Given the description of an element on the screen output the (x, y) to click on. 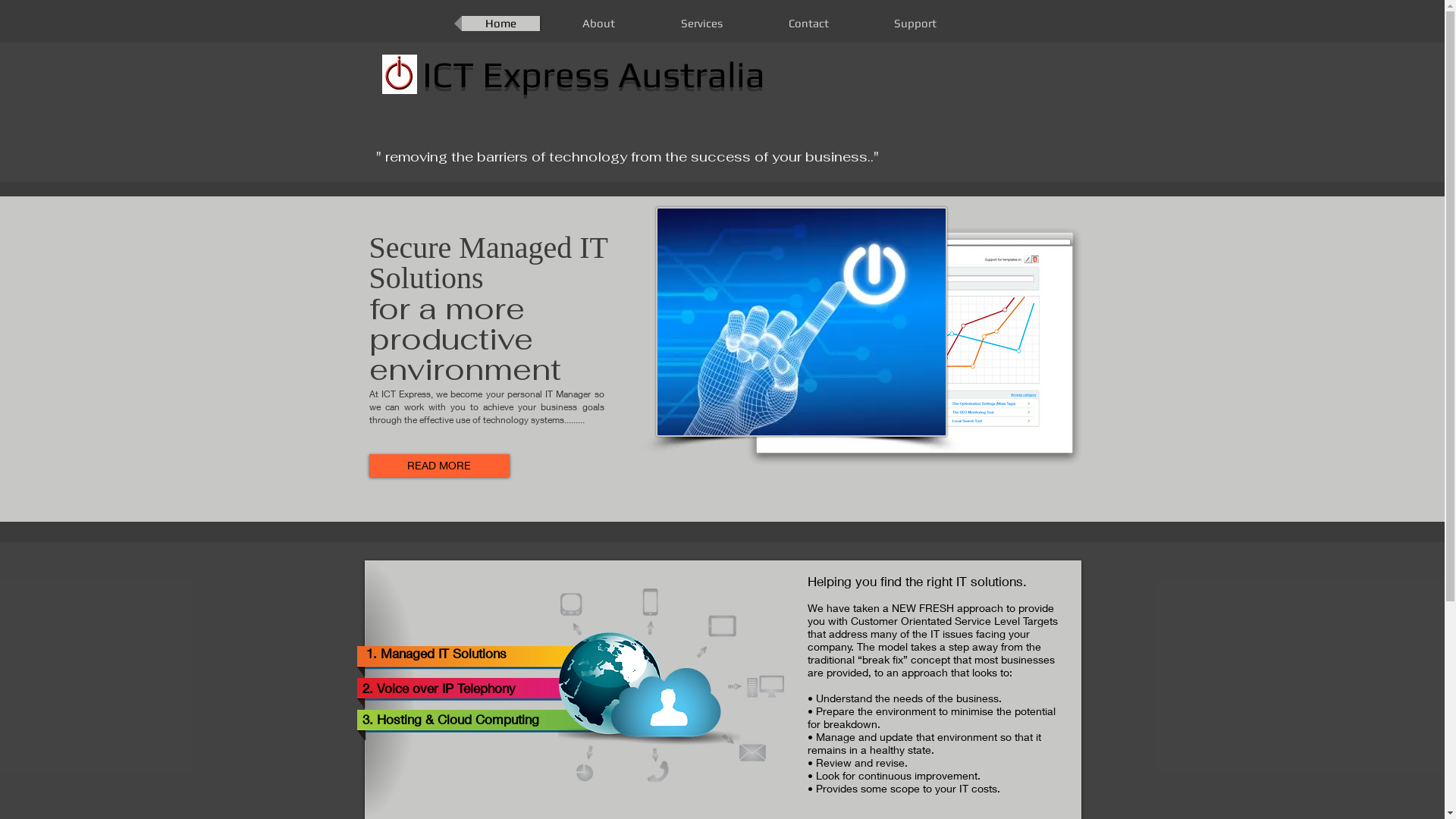
Services Element type: text (701, 23)
Home Element type: text (499, 23)
Contact Element type: text (807, 23)
About Element type: text (597, 23)
READ MORE Element type: text (438, 465)
Support Element type: text (914, 23)
ID-10081650.jpg Element type: hover (800, 321)
